Given the description of an element on the screen output the (x, y) to click on. 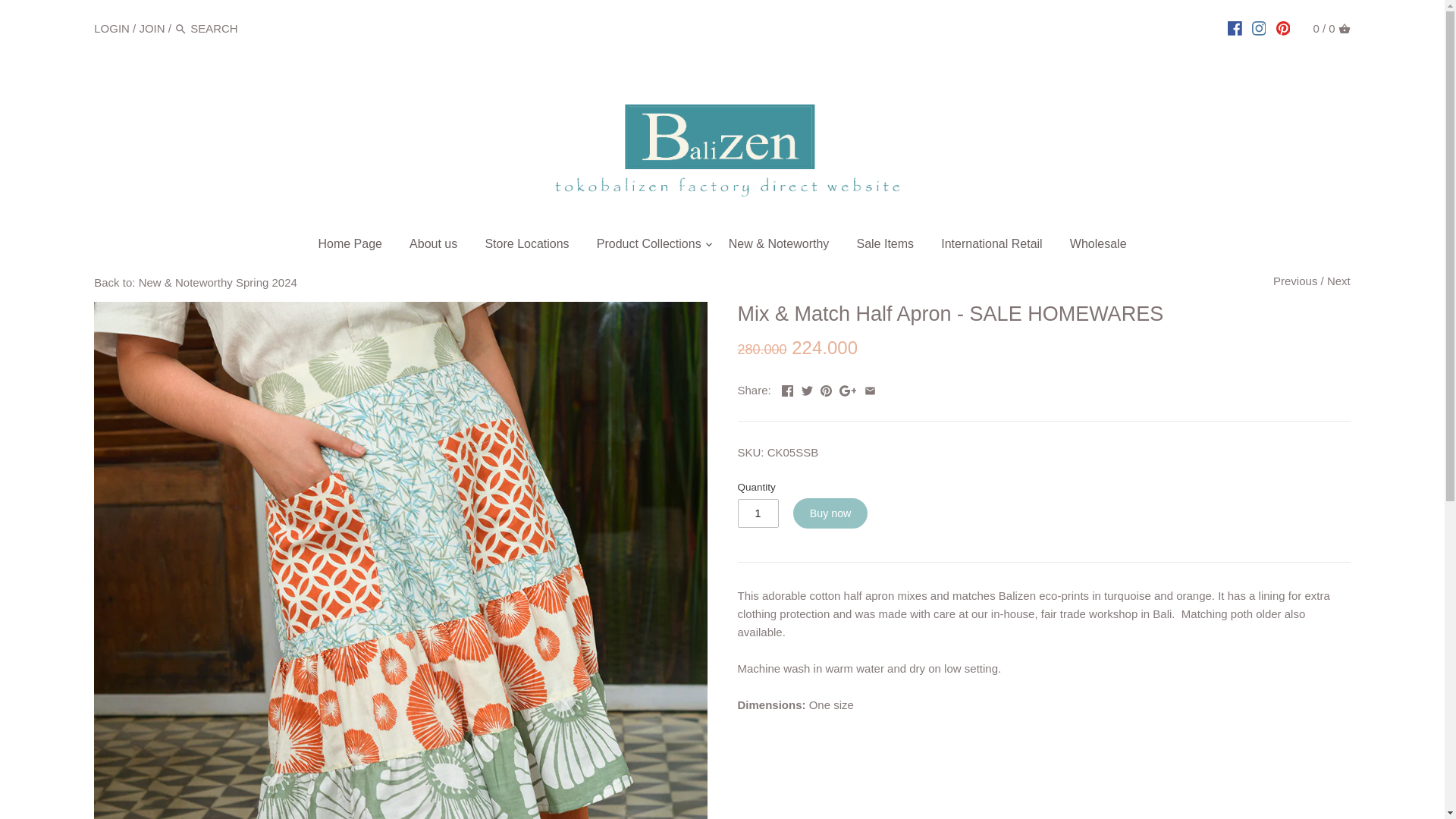
About us (432, 245)
JOIN (151, 27)
Previous (1294, 280)
Store Locations (525, 245)
Search (180, 29)
Email (870, 390)
Next (1338, 280)
Pinterest (826, 390)
International Retail (991, 245)
Facebook (787, 390)
GooglePlus (848, 390)
Wholesale (1098, 245)
Home Page (349, 245)
Product Collections (649, 245)
Twitter (807, 390)
